Given the description of an element on the screen output the (x, y) to click on. 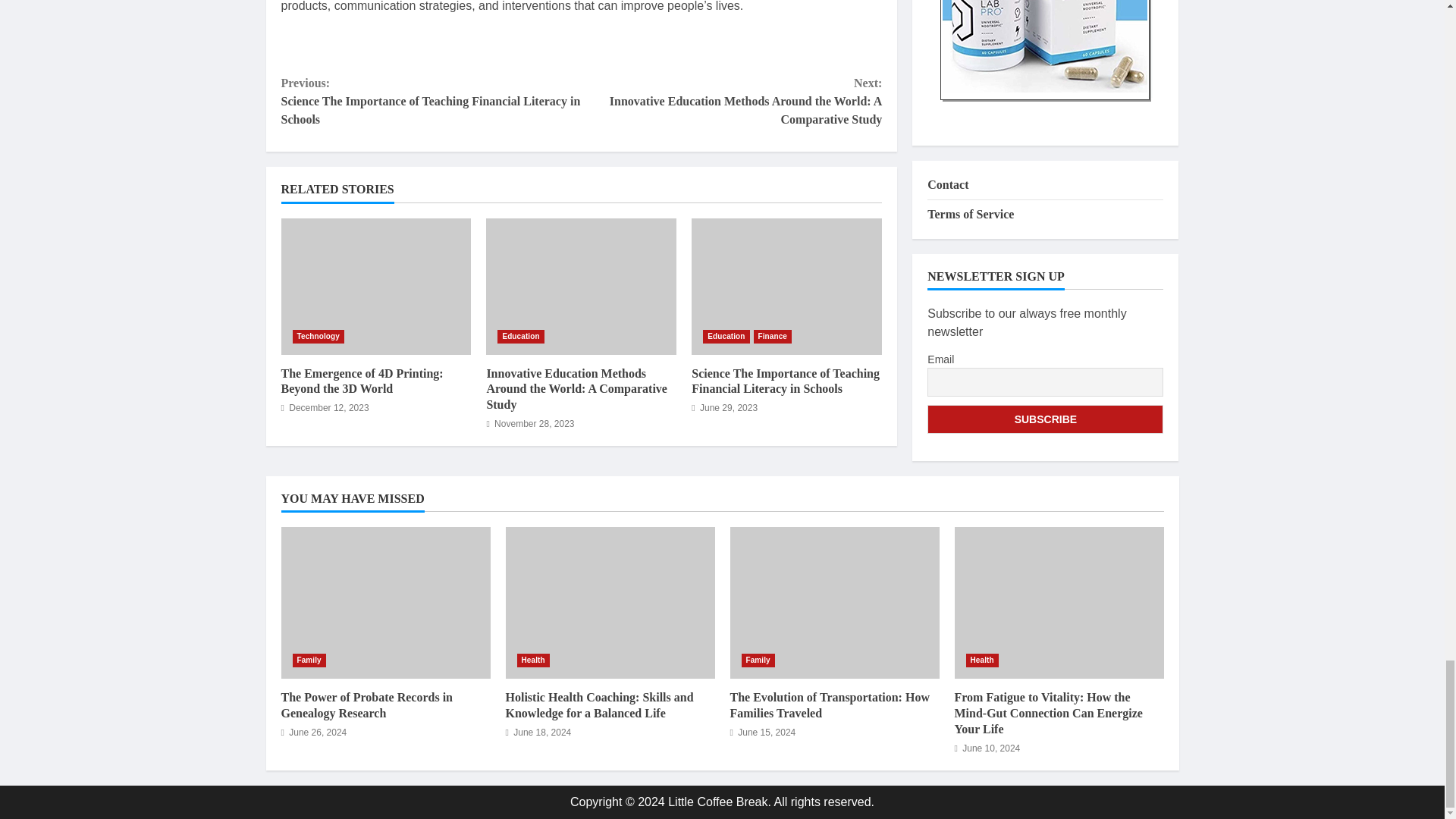
Technology (317, 336)
Share by email (499, 44)
Education (520, 336)
Education (726, 336)
Share on Reddit (379, 44)
Share on Facebook (299, 44)
Share on Twitter (339, 44)
The Emergence of 4D Printing: Beyond the 3D World (375, 286)
Share on Linkedin (459, 44)
Finance (773, 336)
